Given the description of an element on the screen output the (x, y) to click on. 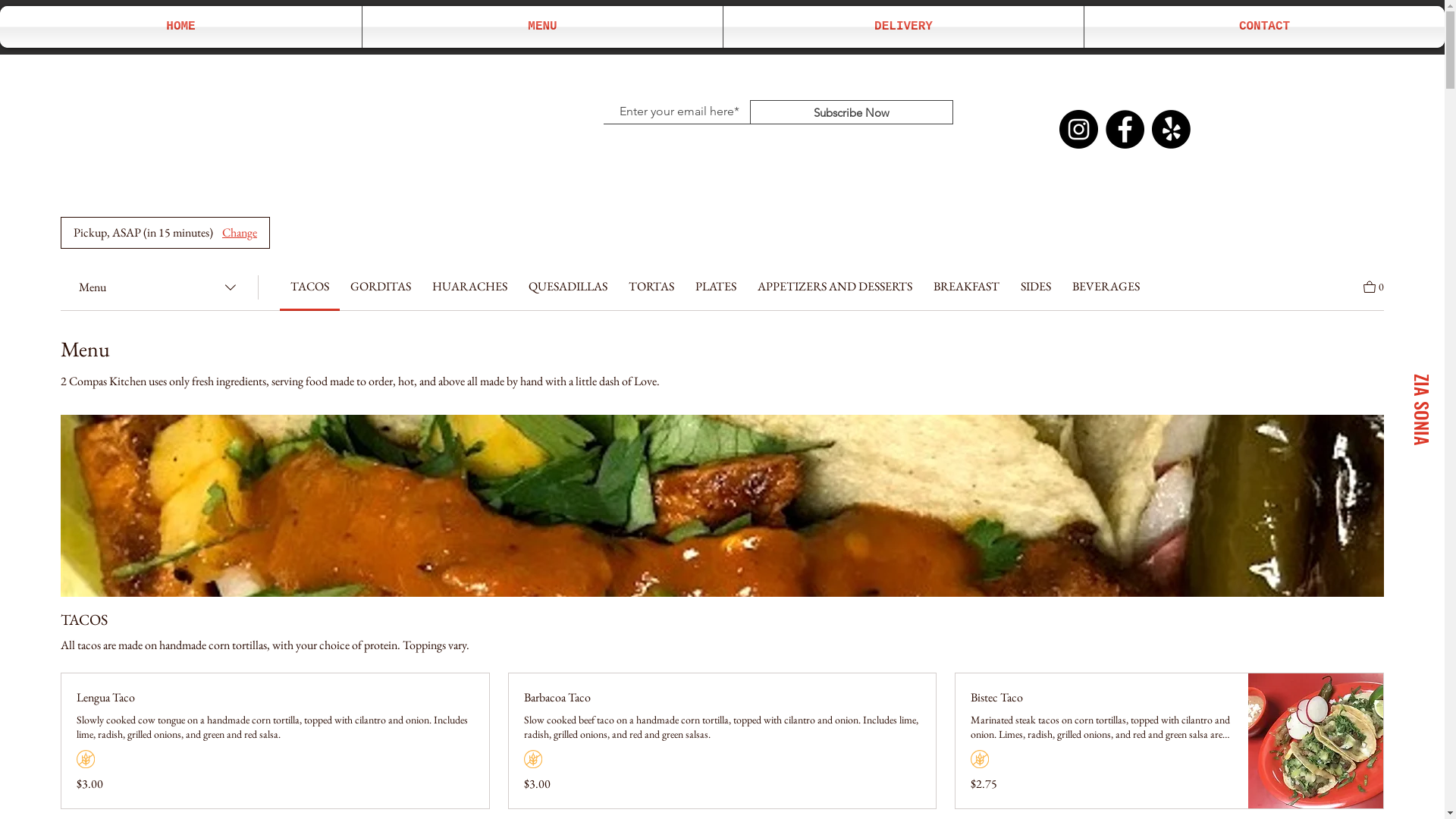
Bistec Taco Element type: text (1101, 697)
Change Element type: text (239, 232)
Log In Element type: text (442, 103)
Lengua Taco Element type: text (274, 697)
CONTACT Element type: text (1264, 26)
Subscribe Now Element type: text (851, 112)
HOME Element type: text (180, 26)
Barbacoa Taco Element type: text (722, 697)
MENU Element type: text (542, 26)
0 Element type: text (1373, 285)
DELIVERY Element type: text (903, 26)
Menu Element type: text (158, 287)
